Given the description of an element on the screen output the (x, y) to click on. 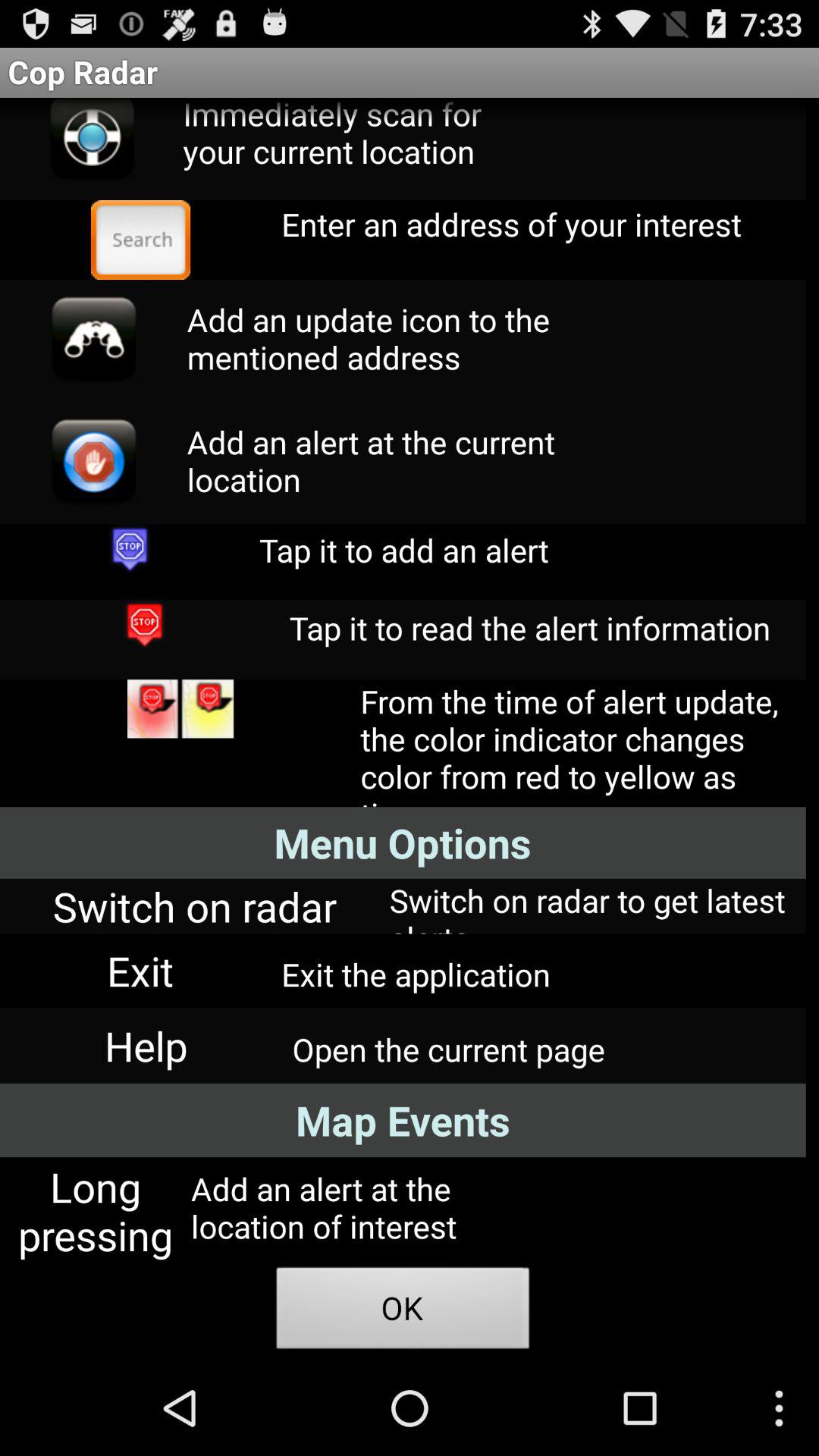
flip until the ok (403, 1312)
